Given the description of an element on the screen output the (x, y) to click on. 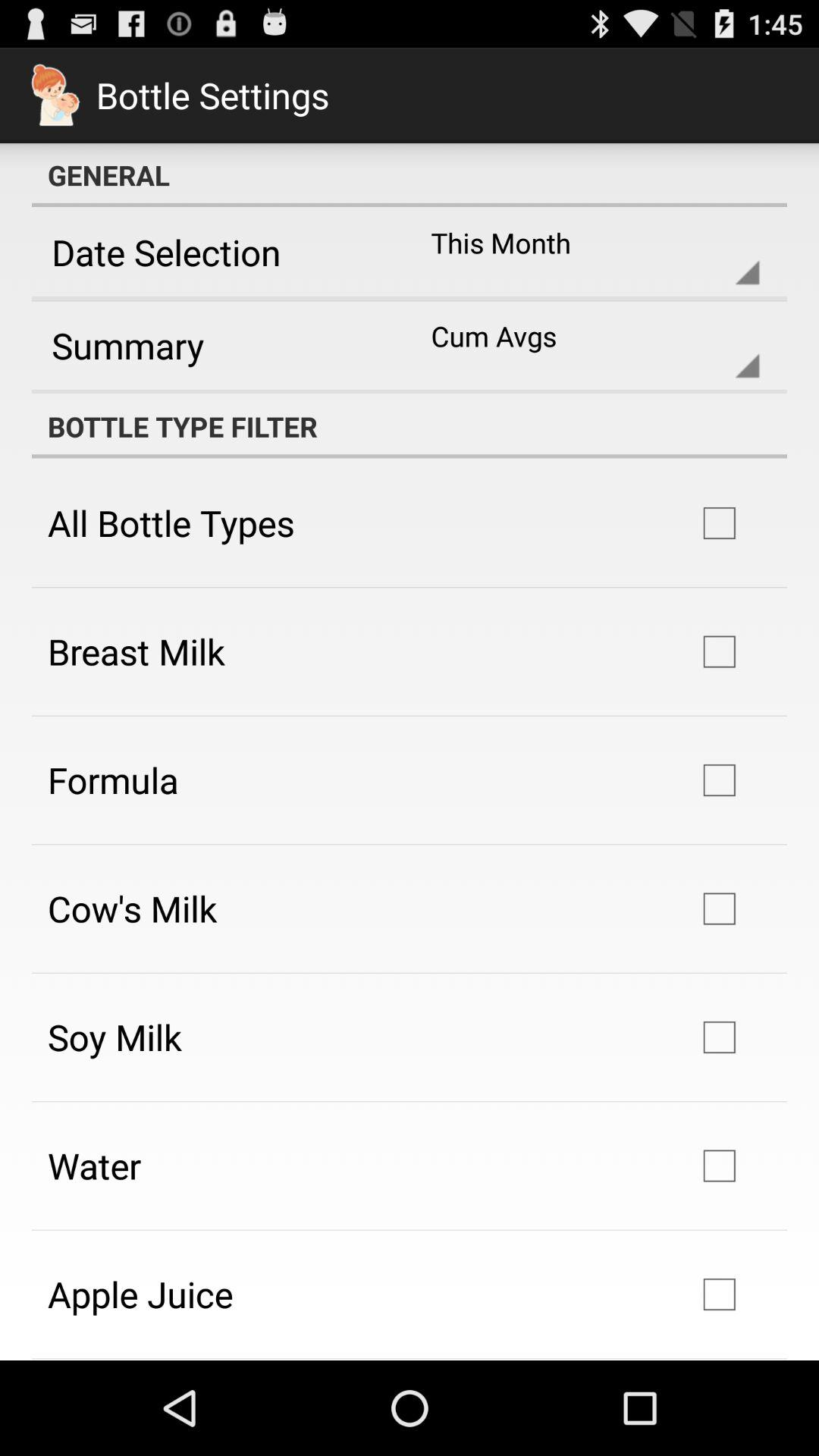
click the app next to the this month (215, 252)
